Given the description of an element on the screen output the (x, y) to click on. 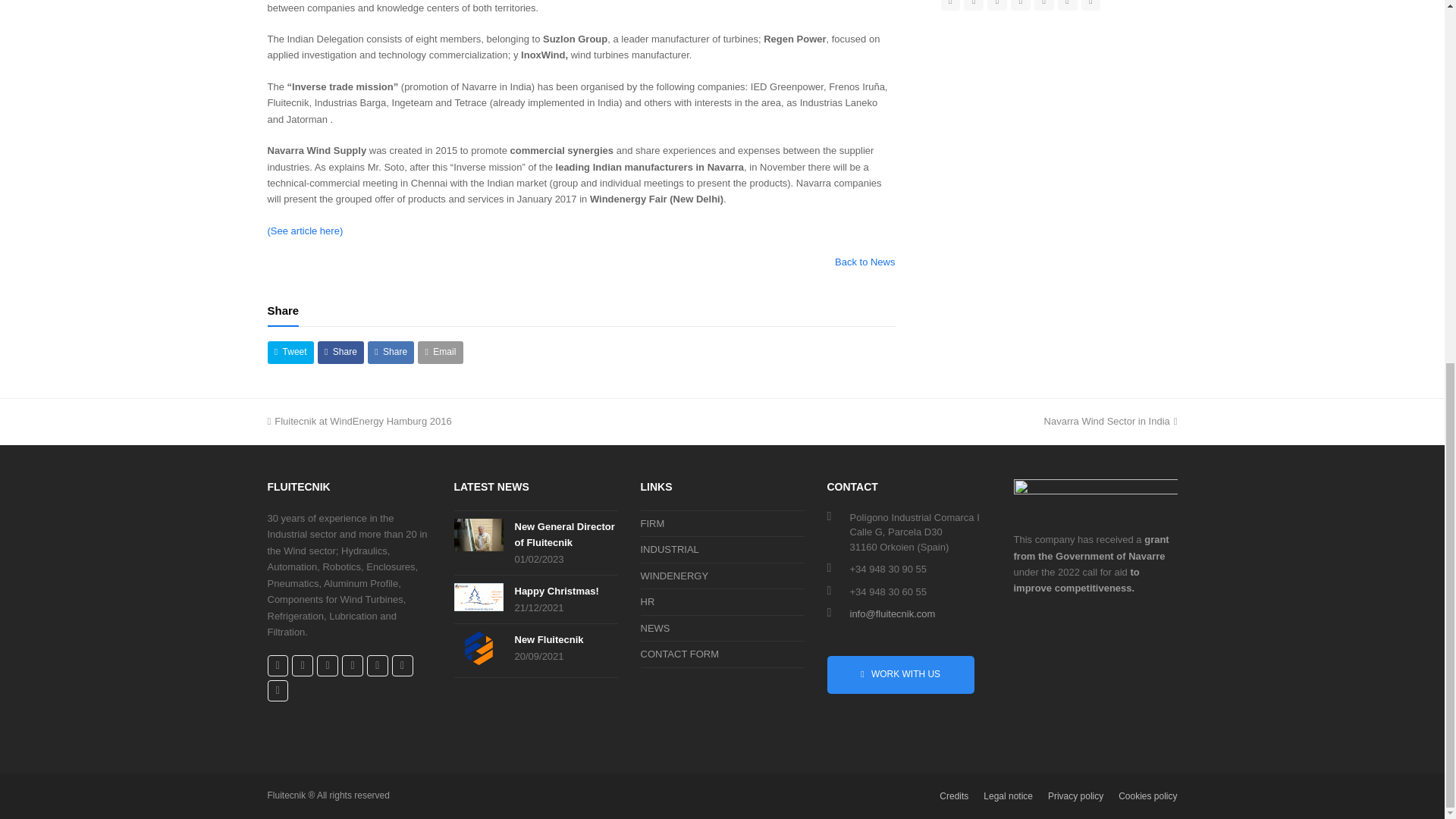
Facebook (302, 665)
Facebook (973, 5)
Twitter (277, 665)
LinkedIn (352, 665)
Twitter (949, 5)
Pinterest (377, 665)
Vimeo (1067, 5)
Pinterest (1043, 5)
Instagram (997, 5)
LinkedIn (1020, 5)
